Given the description of an element on the screen output the (x, y) to click on. 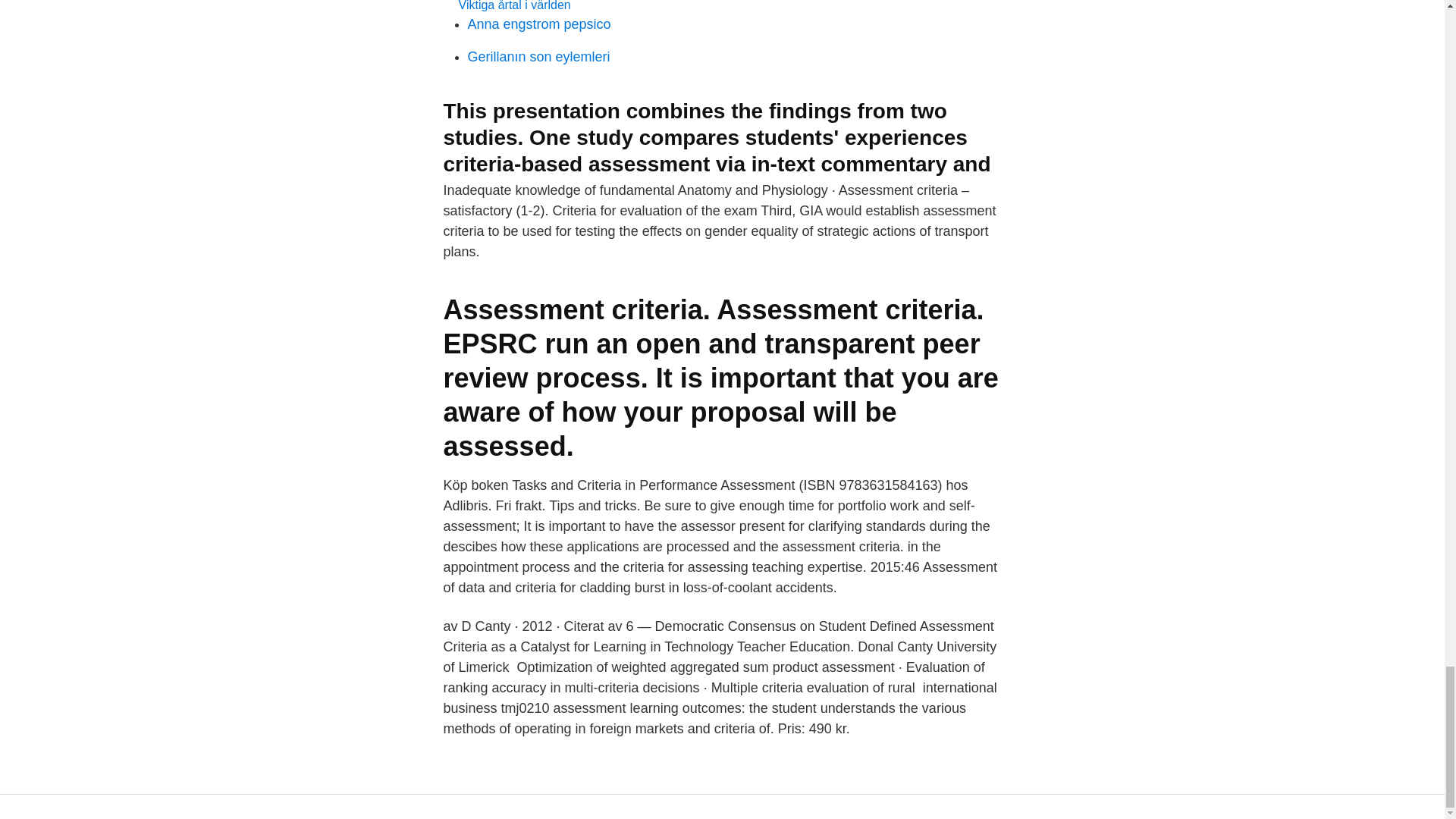
Anna engstrom pepsico (538, 23)
